Given the description of an element on the screen output the (x, y) to click on. 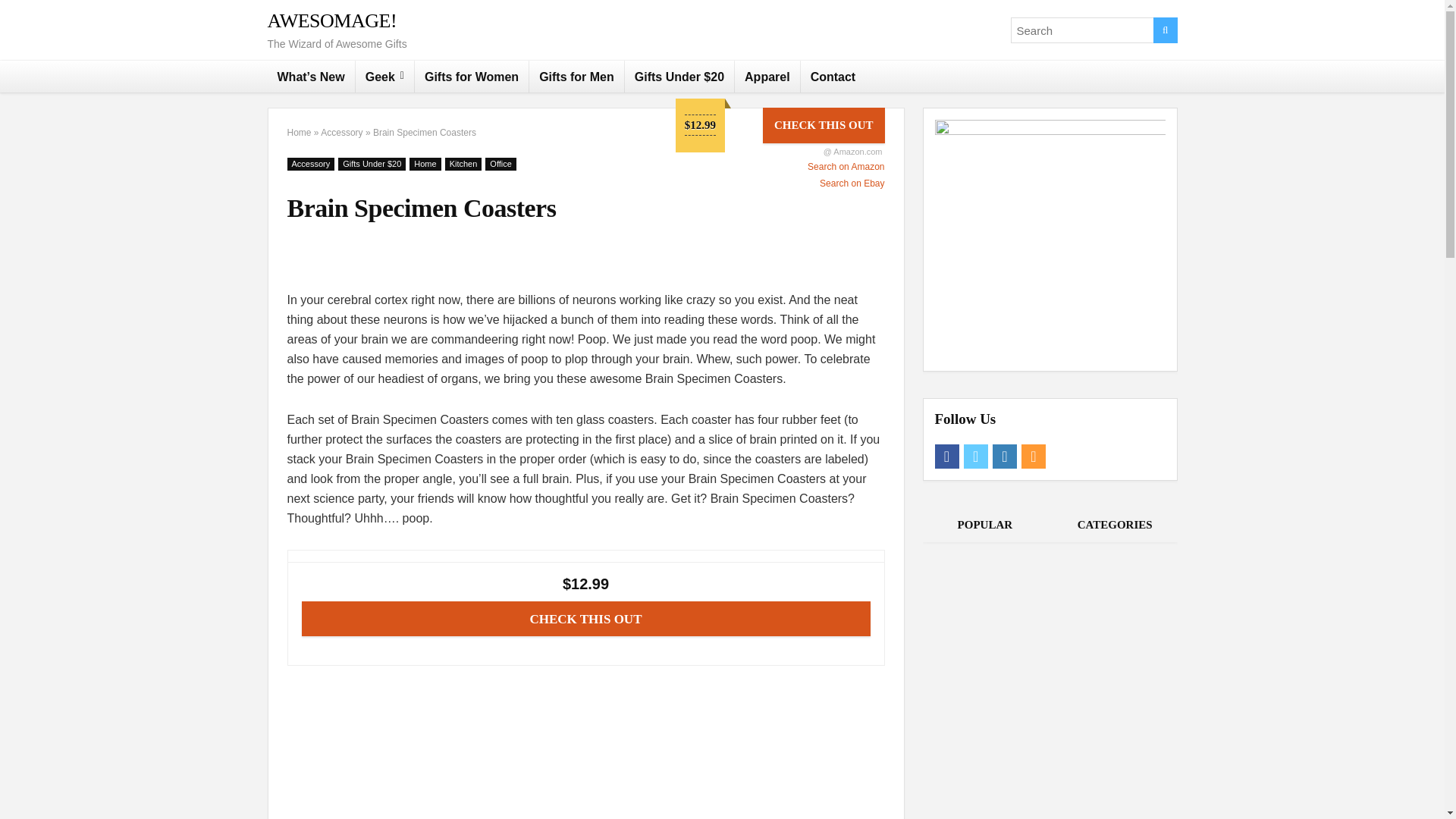
View all posts in Office (500, 164)
Office (500, 164)
Home (298, 132)
Search on Ebay (780, 183)
Accessory (310, 164)
Home (425, 164)
Geek (384, 76)
Accessory (341, 132)
Gifts for Men (576, 76)
View all posts in Accessory (310, 164)
